Given the description of an element on the screen output the (x, y) to click on. 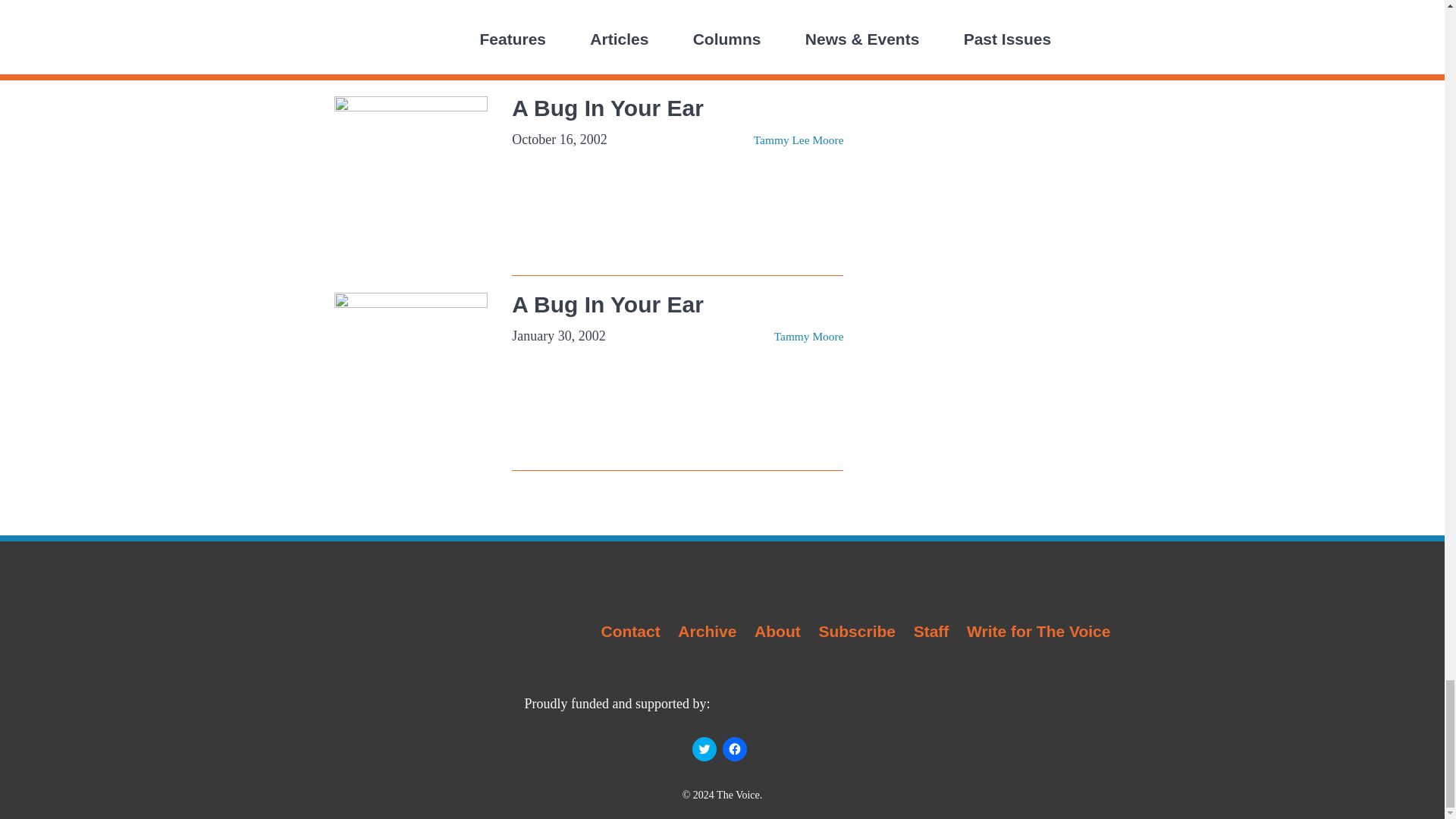
Posts by Tammy Lee Moore (799, 139)
Posts by Tammy Moore (809, 336)
Tammy Lee Moore (799, 34)
Posts by Tammy Lee Moore (799, 34)
Tammy Lee Moore (799, 139)
Tammy Moore (809, 336)
A Bug In Your Ear (607, 303)
A Bug In Your Ear (607, 107)
